Given the description of an element on the screen output the (x, y) to click on. 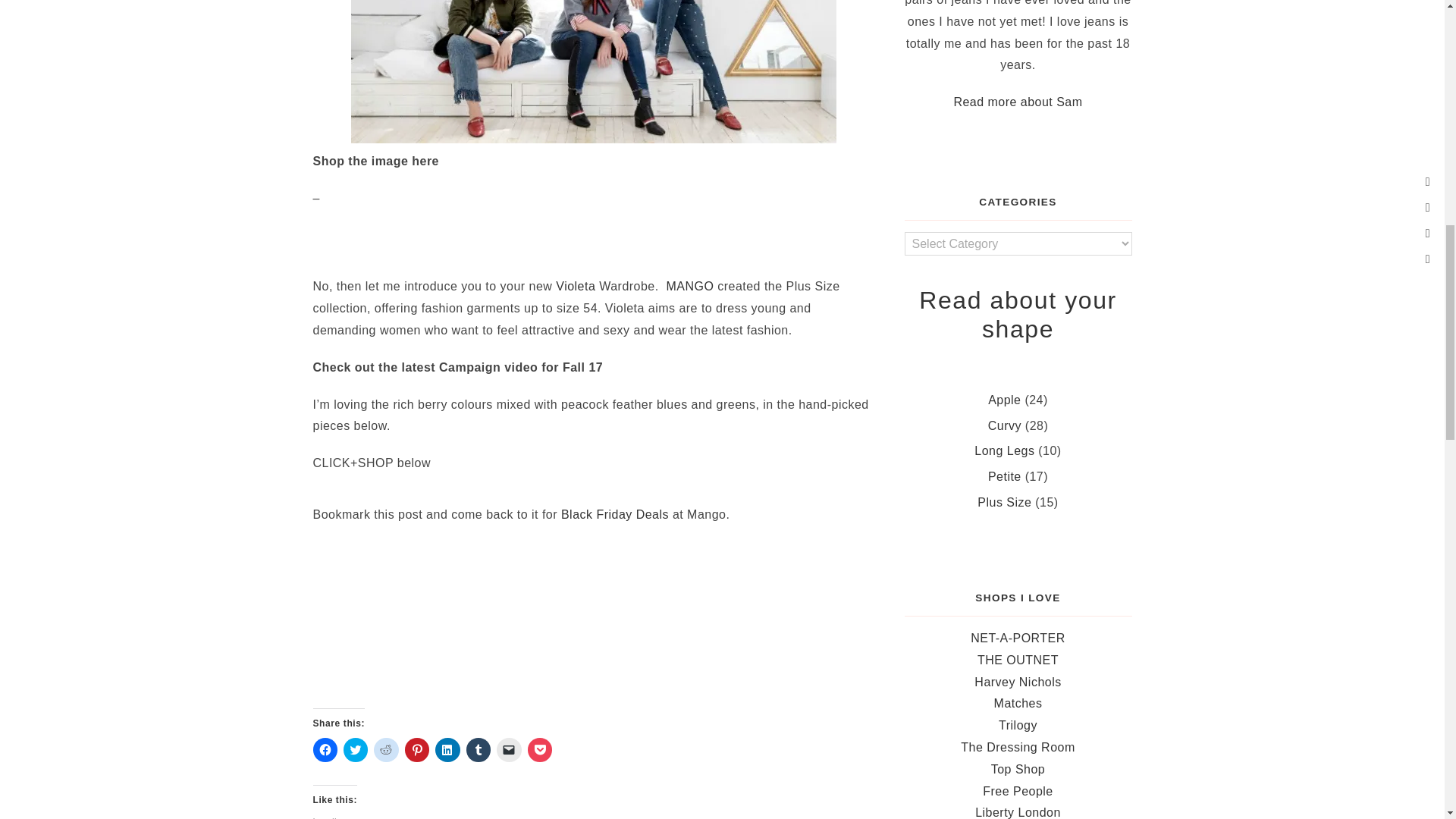
Click to email a link to a friend (508, 749)
Click to share on Pinterest (416, 749)
Click to share on Reddit (385, 749)
Click to share on Facebook (324, 749)
Click to share on Pocket (539, 749)
NET-A-PORTER (1018, 637)
Click to share on LinkedIn (447, 749)
Click to share on Tumblr (477, 749)
Click to share on Twitter (355, 749)
